Given the description of an element on the screen output the (x, y) to click on. 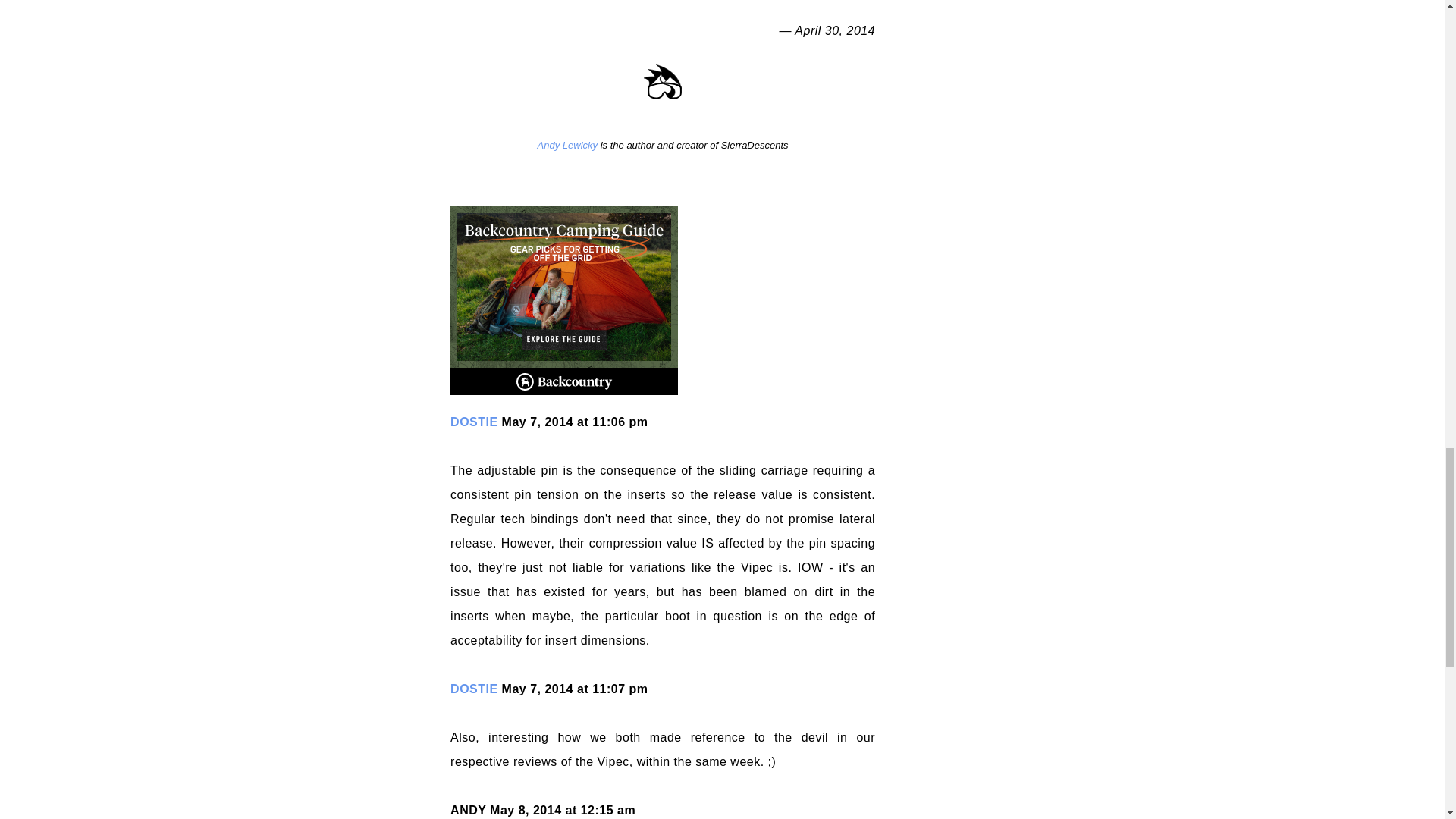
Andy Lewicky (566, 144)
DOSTIE (473, 421)
DOSTIE (473, 688)
